Given the description of an element on the screen output the (x, y) to click on. 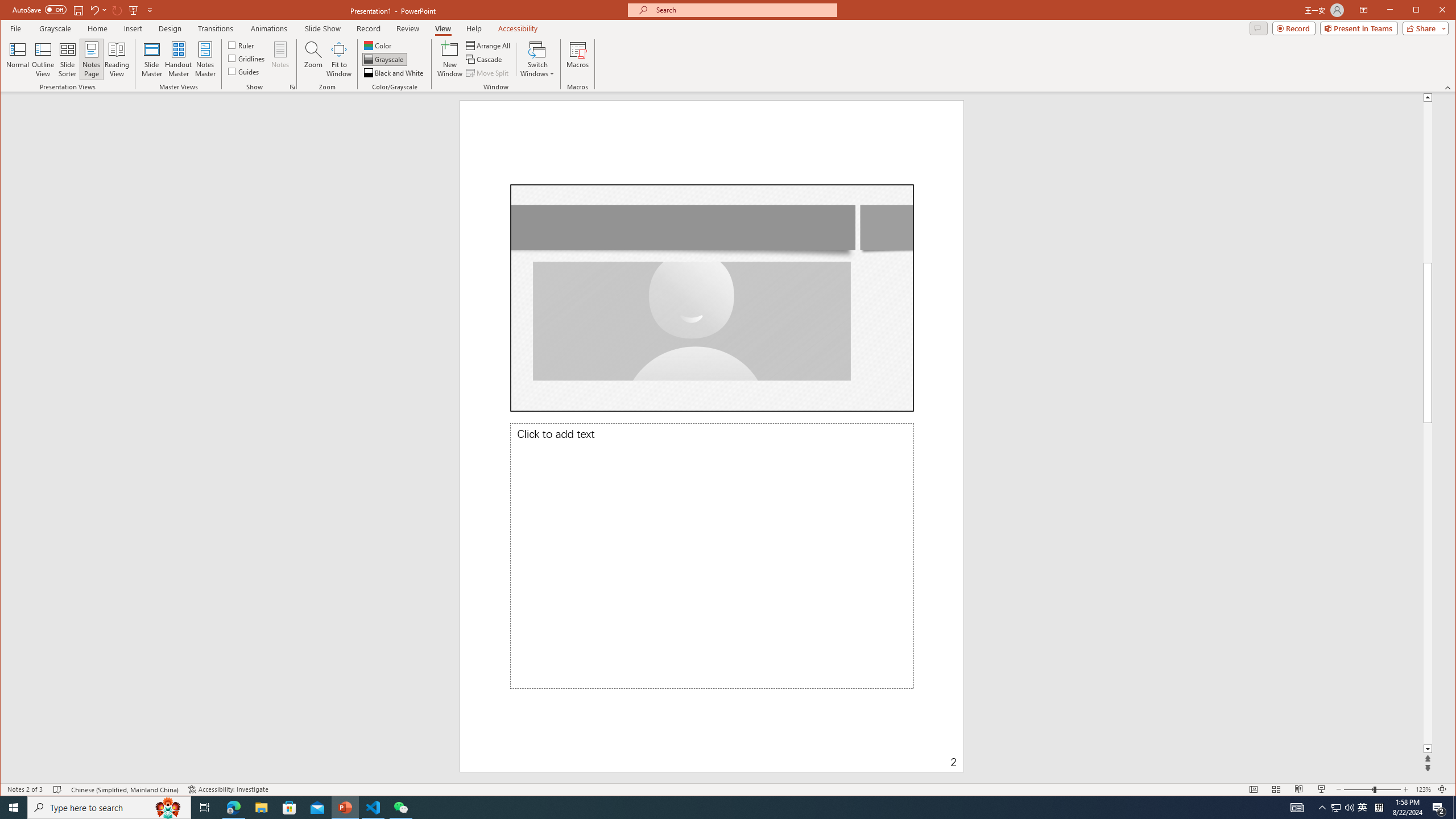
Handout Master (178, 59)
Fit to Window (338, 59)
Outline View (42, 59)
Switch Windows (537, 59)
